Given the description of an element on the screen output the (x, y) to click on. 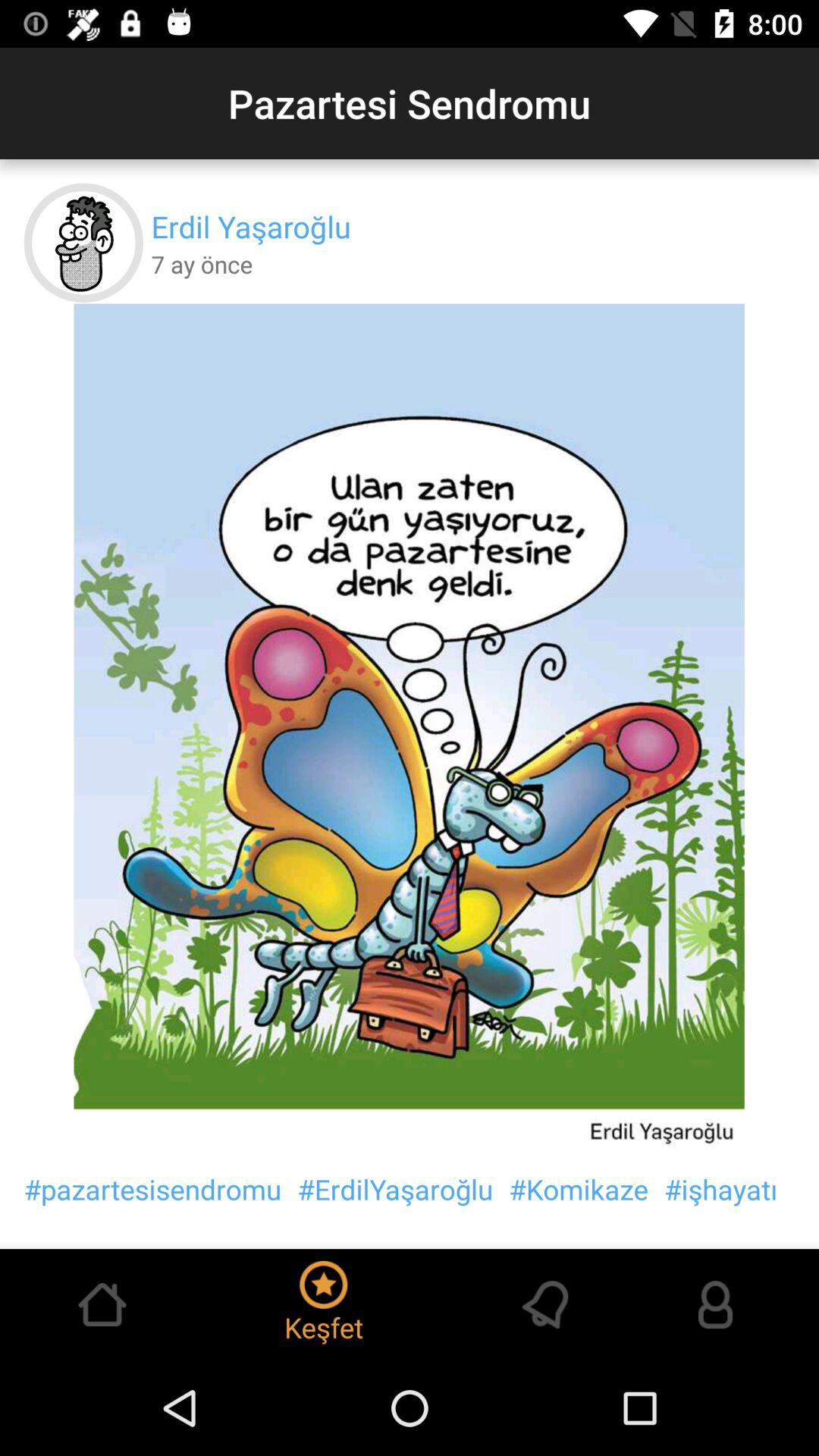
choose the icon to the right of the #komikaze icon (720, 1189)
